Given the description of an element on the screen output the (x, y) to click on. 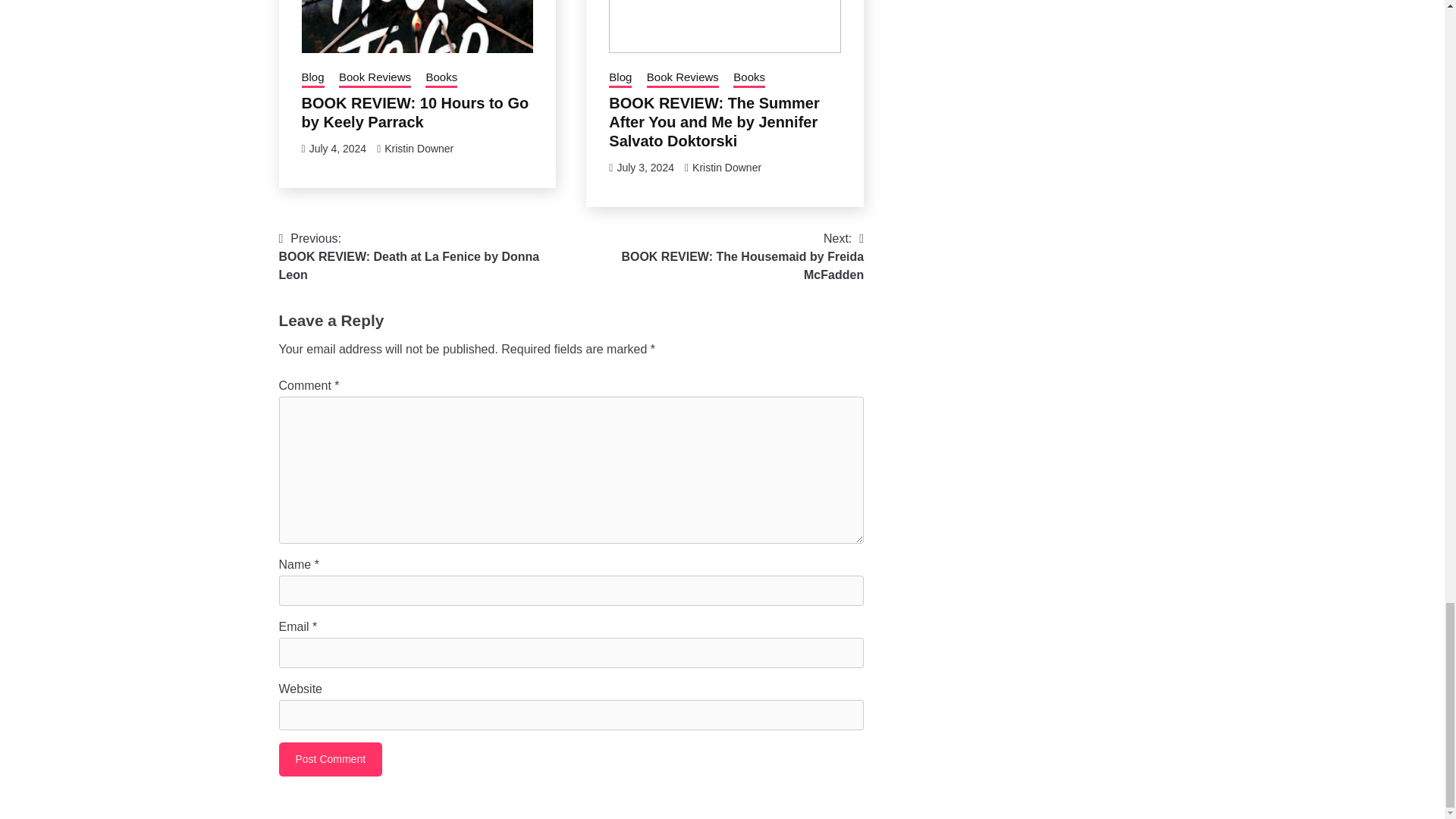
Post Comment (330, 759)
Blog (312, 78)
Books (441, 78)
Book Reviews (374, 78)
